Given the description of an element on the screen output the (x, y) to click on. 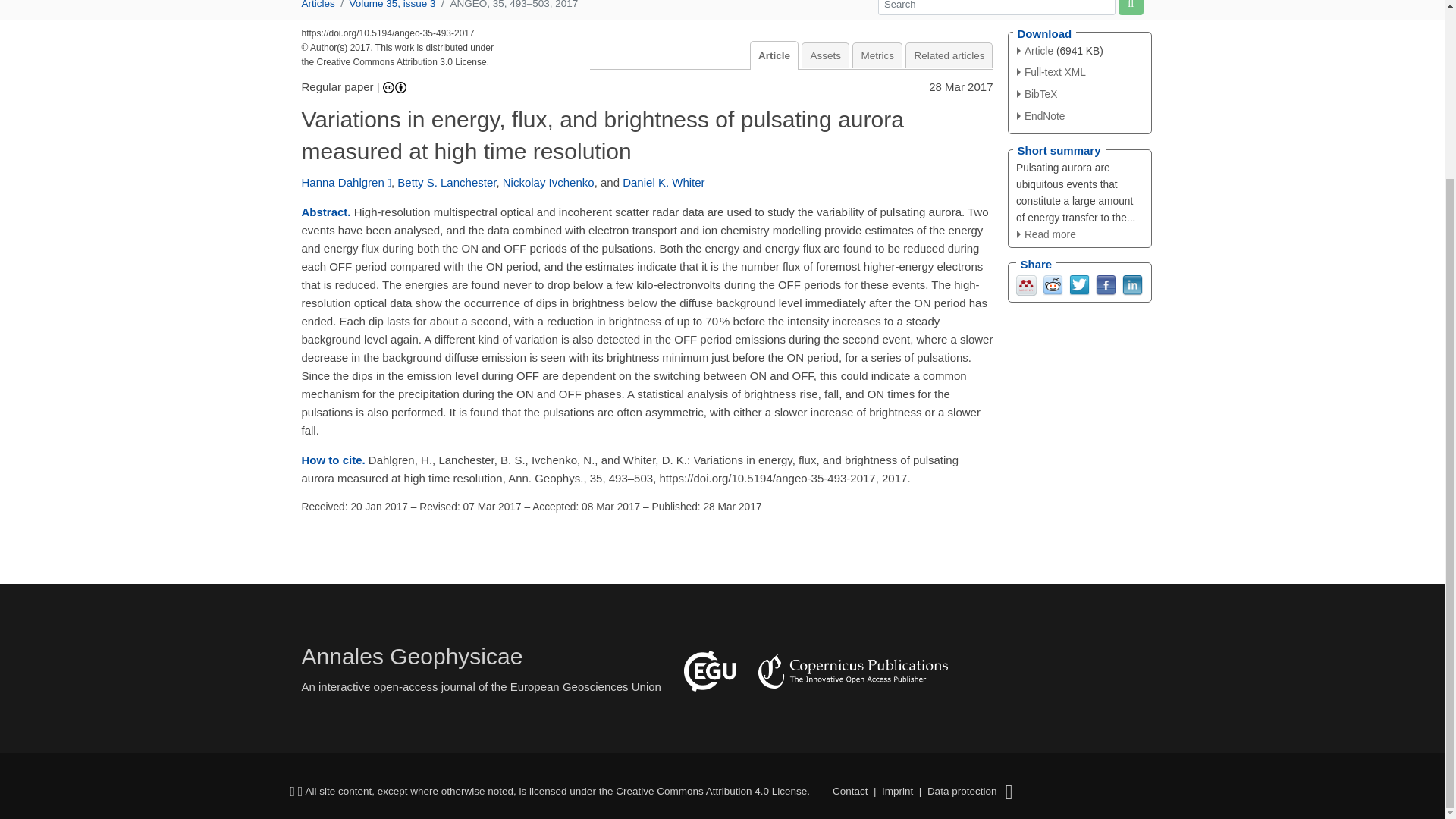
XML Version (1051, 71)
Reddit (1052, 284)
Mendeley (1026, 284)
Start site search (1130, 7)
Twitter (1078, 284)
Facebook (1104, 284)
